Given the description of an element on the screen output the (x, y) to click on. 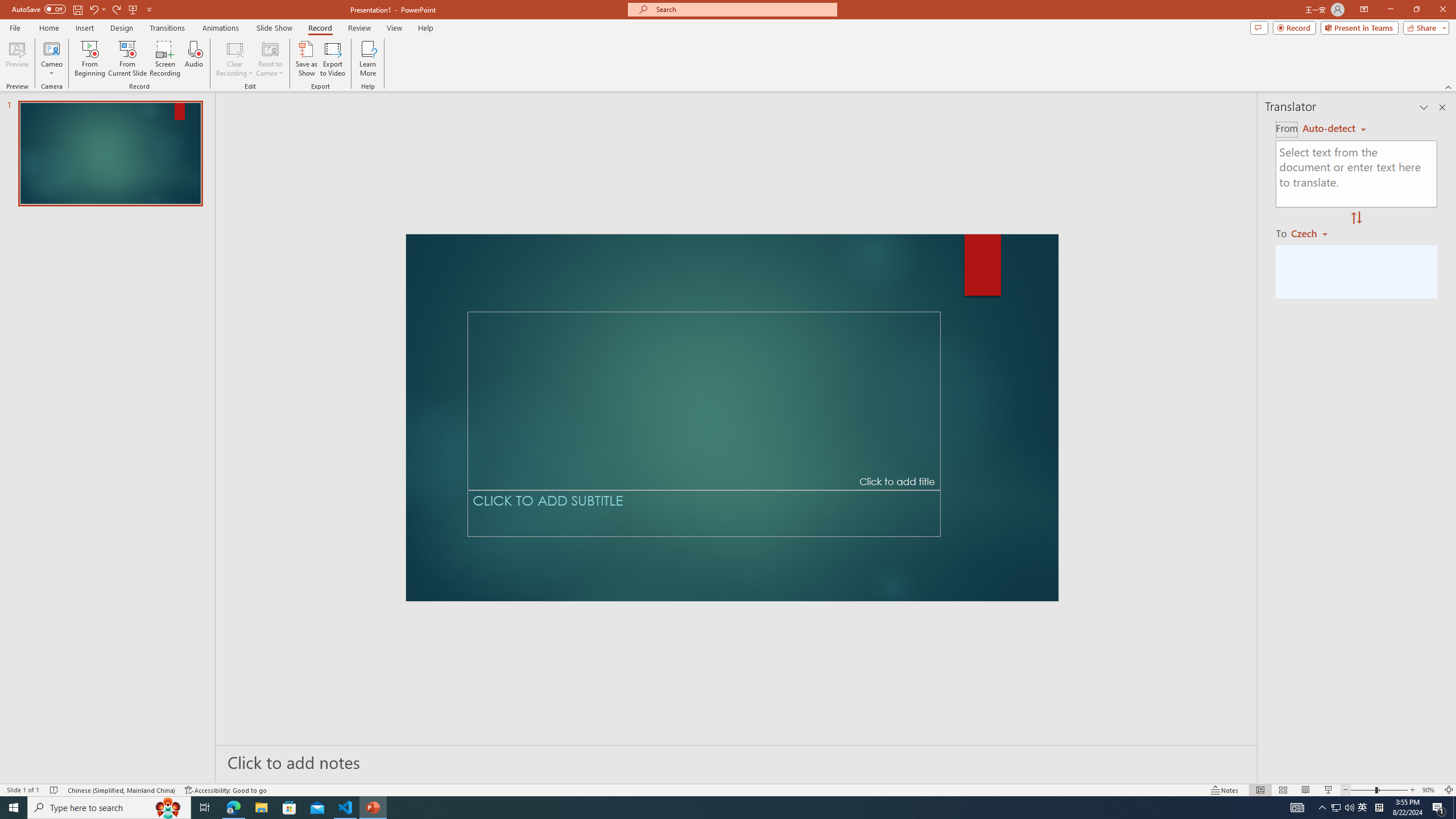
Cameo (51, 58)
Export to Video (332, 58)
Auto-detect (1334, 128)
From Beginning... (89, 58)
